Given the description of an element on the screen output the (x, y) to click on. 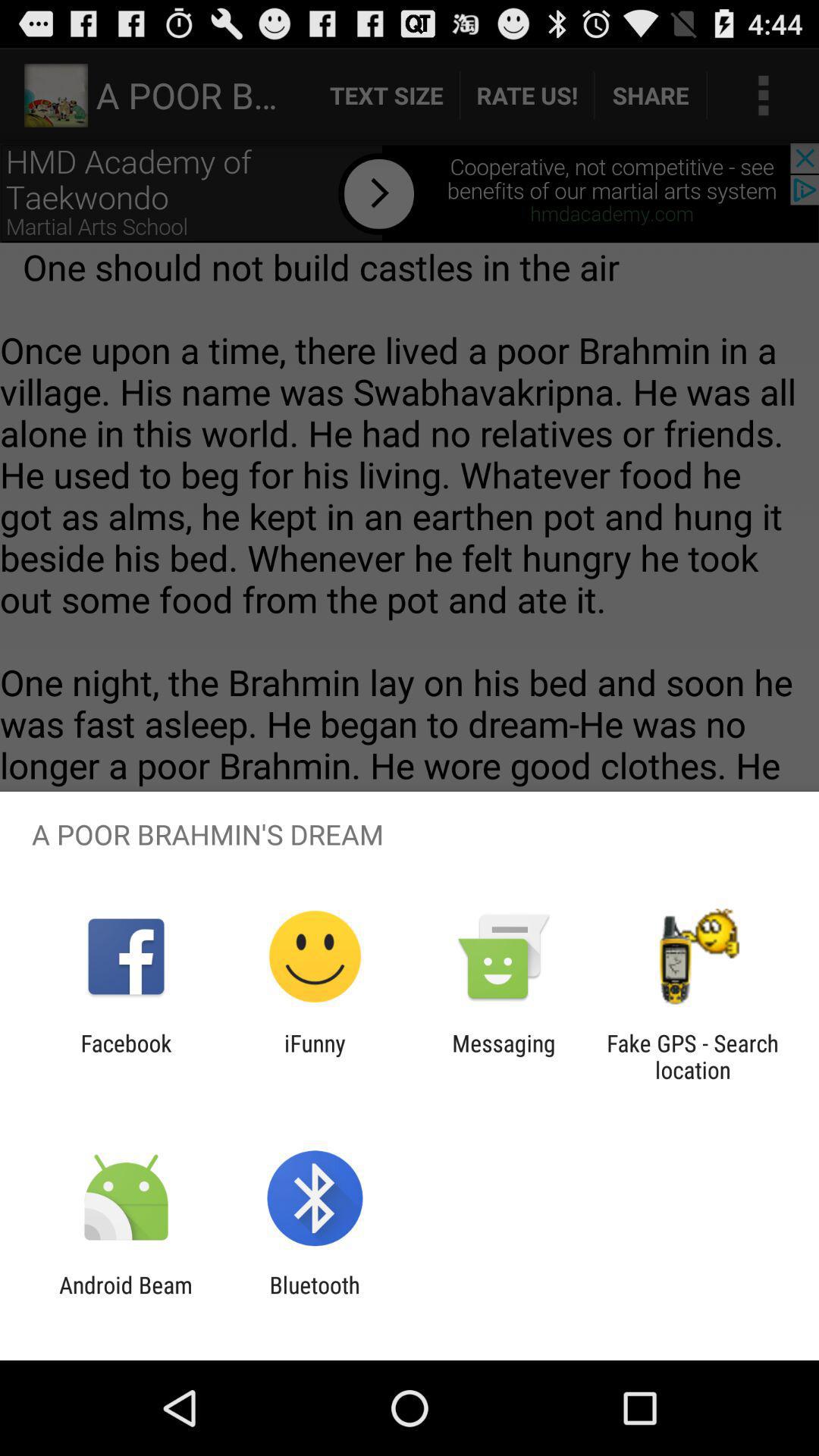
scroll to android beam app (125, 1298)
